Given the description of an element on the screen output the (x, y) to click on. 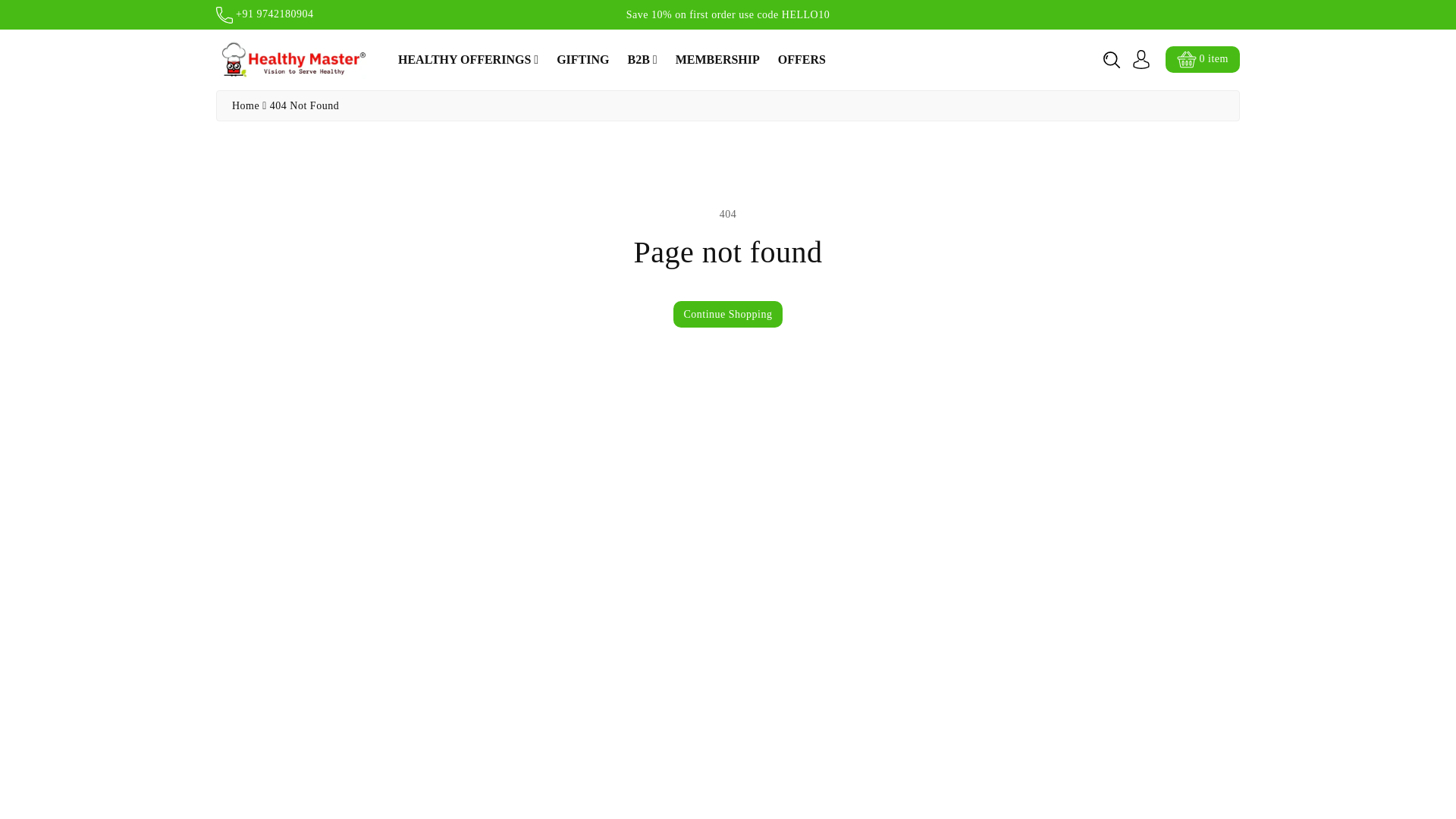
Home (245, 105)
Skip To Content (9, 6)
HEALTHY OFFERINGS (467, 59)
